Given the description of an element on the screen output the (x, y) to click on. 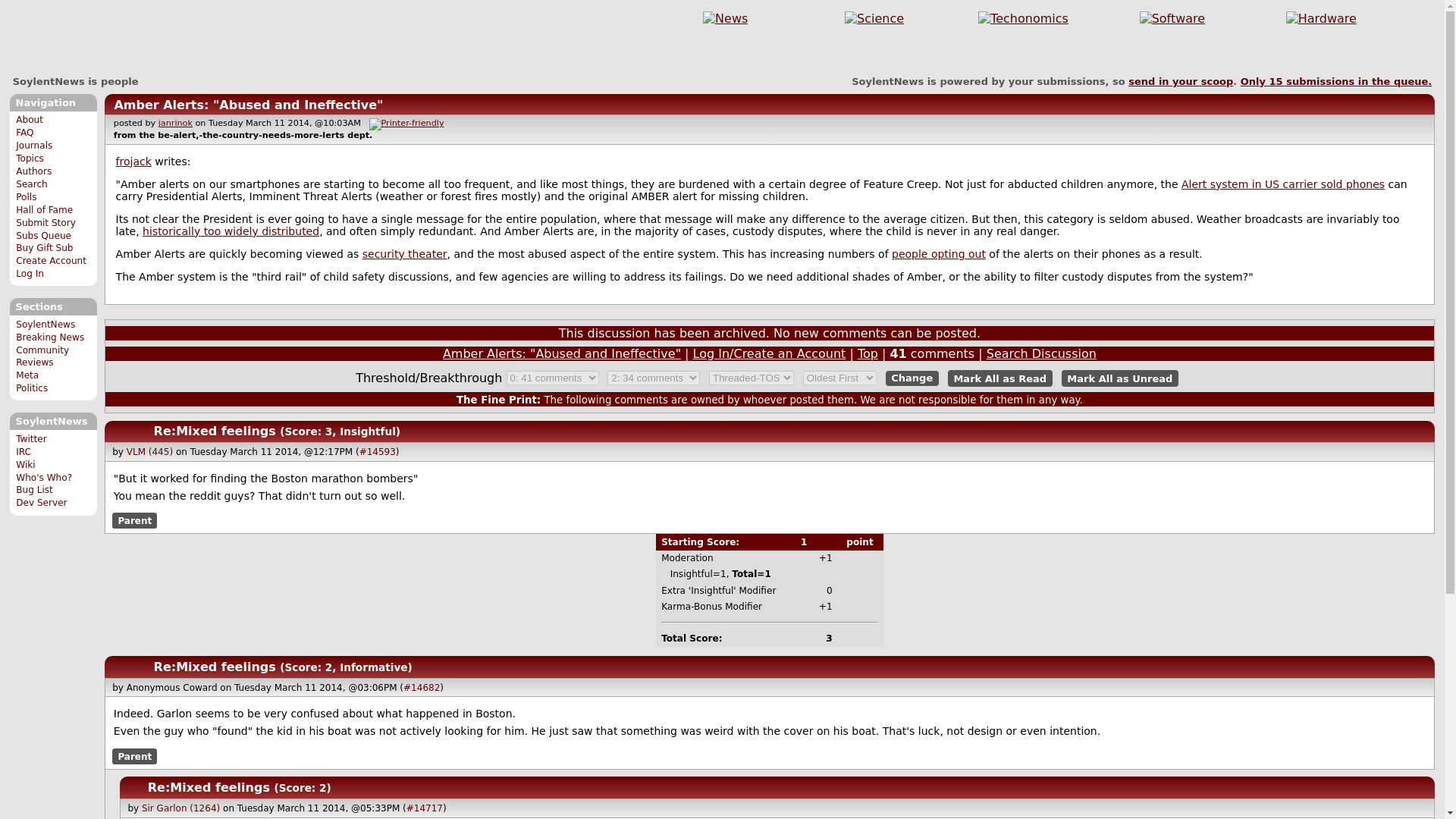
Hall of Fame (44, 209)
Topics (29, 158)
Search (32, 184)
janrinok (175, 122)
Who's Who? (43, 477)
Change (912, 378)
Wiki (25, 464)
Breaking News (50, 337)
Submit Story (45, 222)
SoylentNews (53, 41)
Twitter (31, 439)
Science (874, 18)
Hardware (1320, 18)
News (725, 18)
Journals (34, 145)
